Given the description of an element on the screen output the (x, y) to click on. 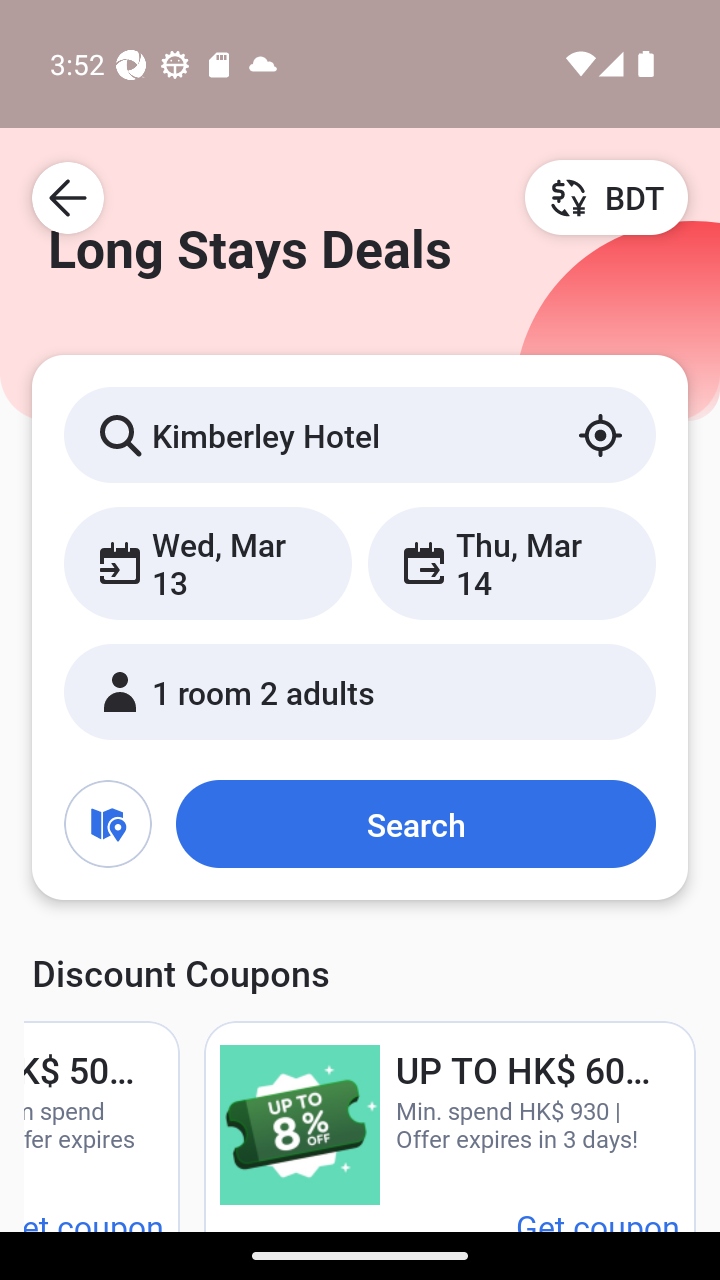
BDT (606, 197)
Kimberley Hotel (359, 434)
Wed, Mar 13 (208, 562)
Thu, Mar 14 (511, 562)
1 room 2 adults (359, 691)
Search (415, 823)
